Given the description of an element on the screen output the (x, y) to click on. 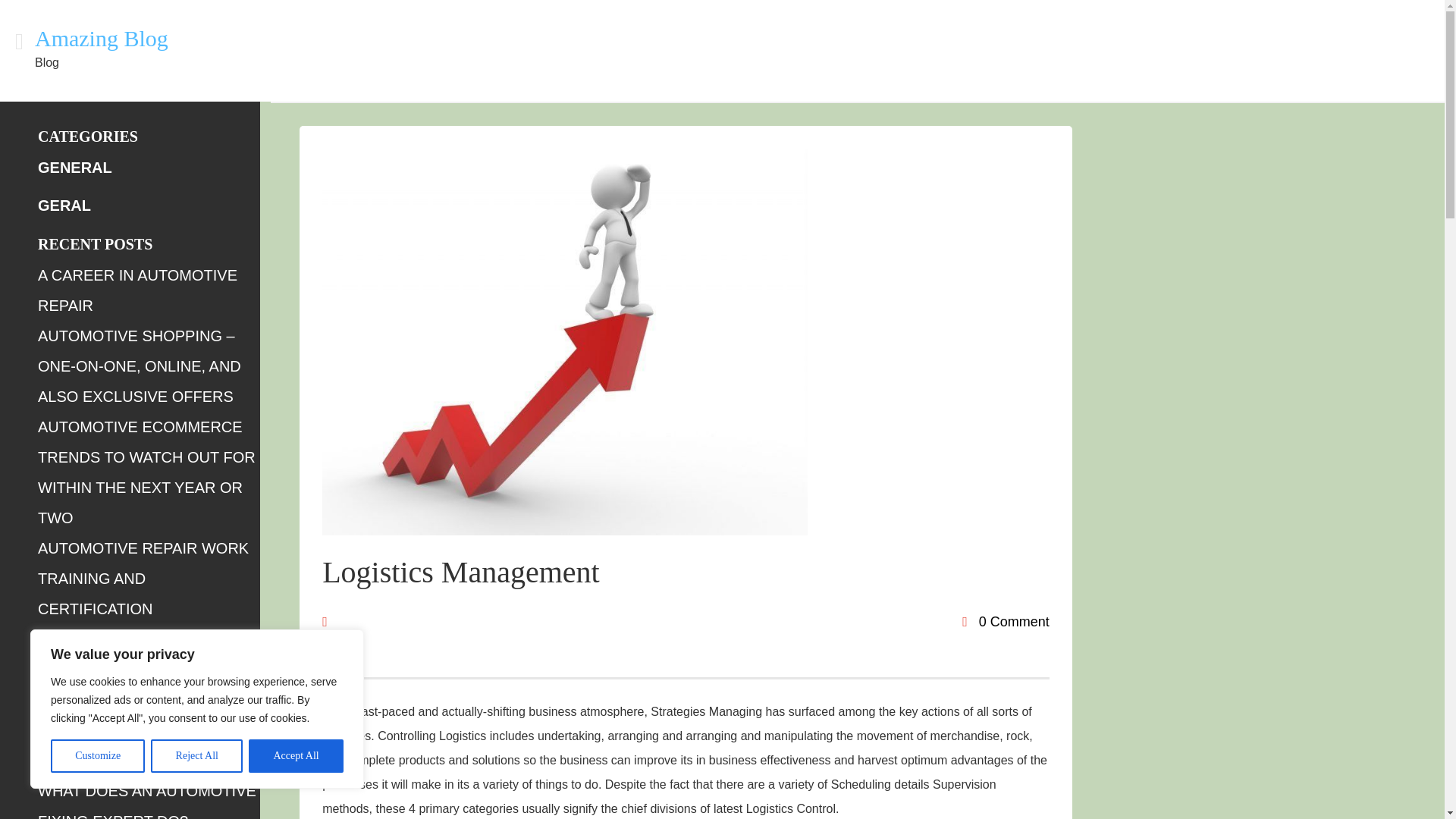
Customize (97, 756)
Amazing Blog (101, 37)
Reject All (197, 756)
GENERAL (74, 167)
Accept All (295, 756)
0 Comment (1005, 621)
